Given the description of an element on the screen output the (x, y) to click on. 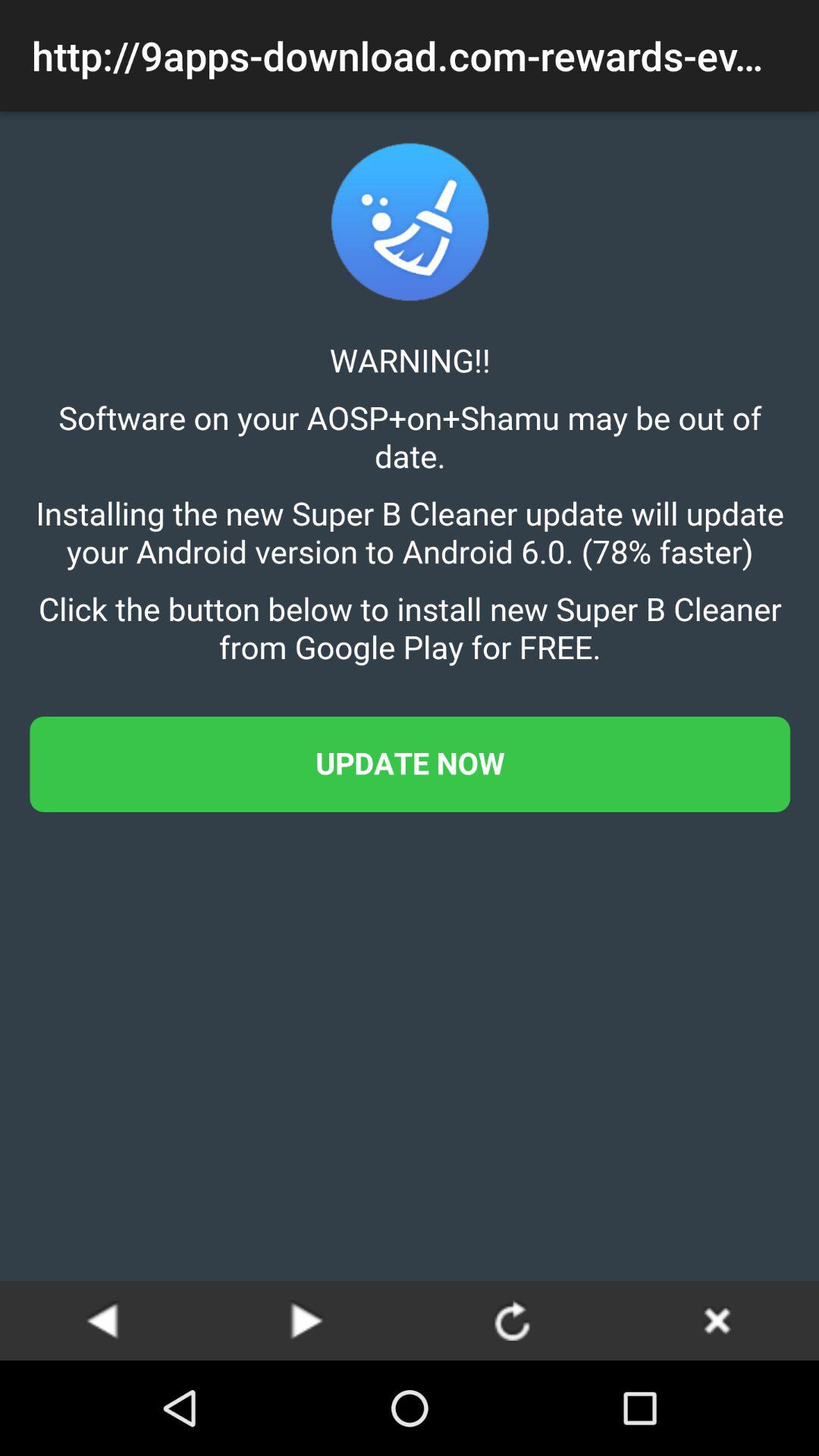
go to close option (716, 1320)
